Given the description of an element on the screen output the (x, y) to click on. 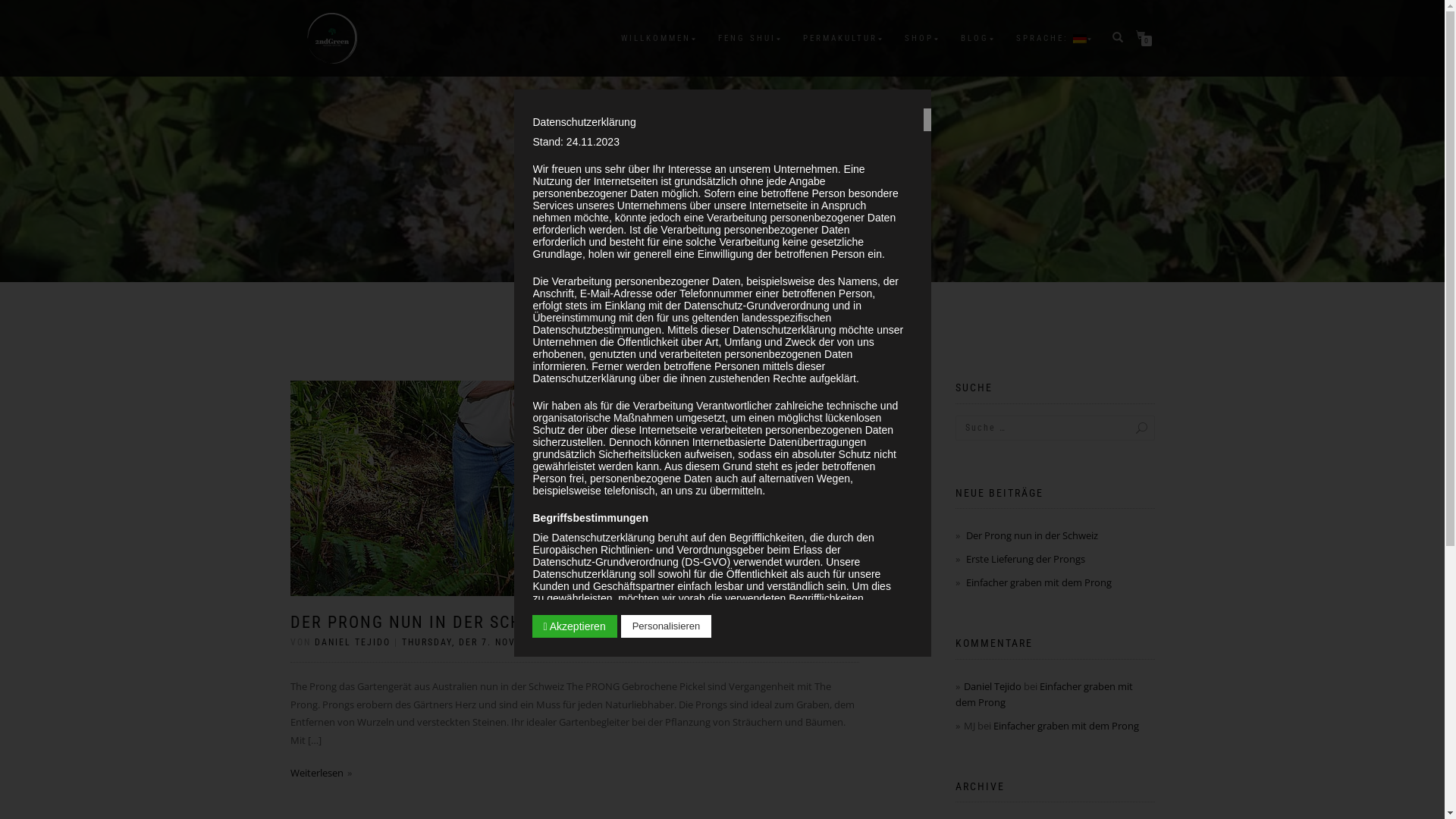
Daniel Tejido Element type: text (992, 686)
KEINE KOMMENTARE Element type: text (639, 642)
SPRACHE:  Element type: text (1050, 38)
WILLKOMMEN Element type: text (655, 38)
ALLGEMEIN Element type: text (728, 642)
PERMAKULTUR Element type: text (839, 38)
Einfacher graben mit dem Prong Element type: text (1038, 582)
FENG SHUI Element type: text (746, 38)
0 Element type: text (1143, 35)
DANIEL TEJIDO Element type: text (351, 642)
Erste Lieferung der Prongs Element type: text (1025, 558)
THURSDAY, DER 7. NOVEMBER 2019 Element type: text (489, 642)
SHOP Element type: text (918, 38)
Der Prong nun in der Schweiz Element type: text (1032, 535)
Einfacher graben mit dem Prong Element type: text (1043, 694)
BLOG Element type: text (974, 38)
Personalisieren Element type: text (666, 626)
Suche Element type: text (1126, 427)
Weiterlesen Element type: text (320, 772)
DER PRONG NUN IN DER SCHWEIZ Element type: text (425, 621)
Einfacher graben mit dem Prong Element type: text (1066, 725)
